Given the description of an element on the screen output the (x, y) to click on. 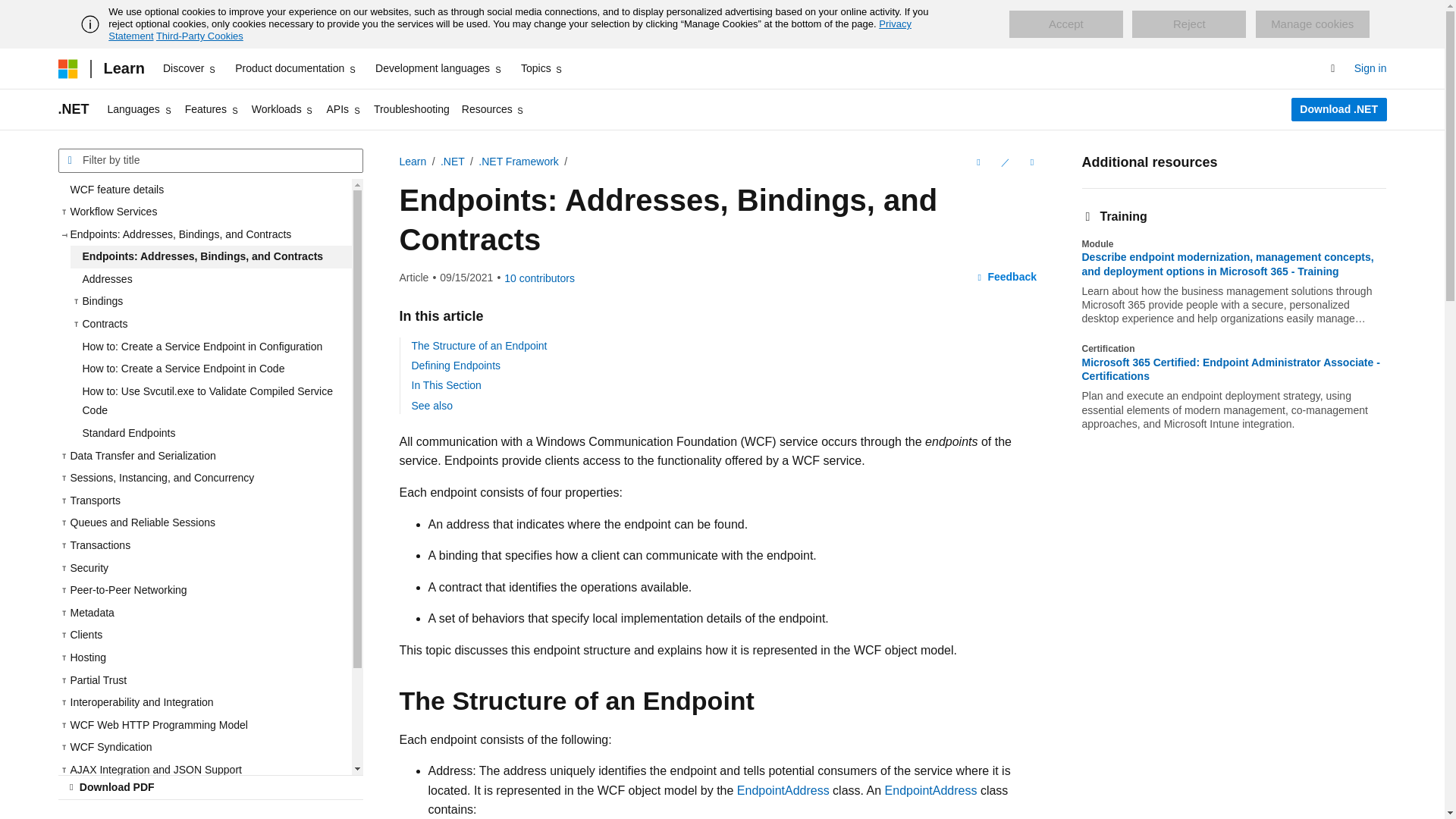
Edit This Document (1004, 161)
Development languages (438, 68)
Third-Party Cookies (199, 35)
Topics (542, 68)
View all contributors (539, 277)
Privacy Statement (509, 29)
Skip to main content (11, 11)
Features (212, 109)
Reject (1189, 23)
Manage cookies (1312, 23)
Product documentation (295, 68)
More actions (1031, 161)
Sign in (1370, 68)
Accept (1065, 23)
Learn (123, 68)
